Given the description of an element on the screen output the (x, y) to click on. 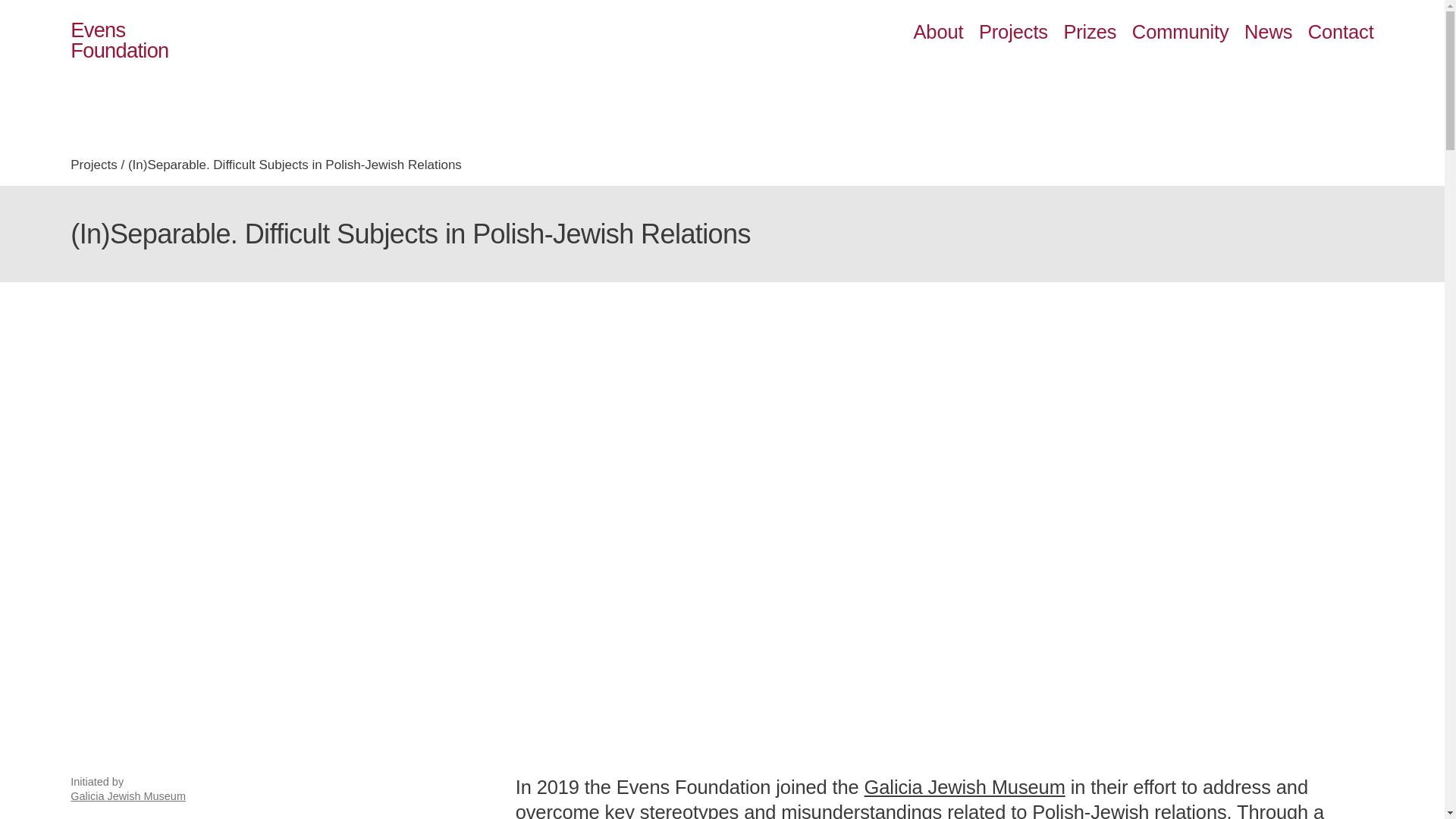
Projects (92, 164)
Community (1180, 31)
Galicia Jewish Museum (127, 796)
Galicia Jewish Museum (964, 786)
News (1268, 31)
Contact (1340, 31)
About (118, 40)
Projects (937, 31)
Prizes (1013, 31)
